Given the description of an element on the screen output the (x, y) to click on. 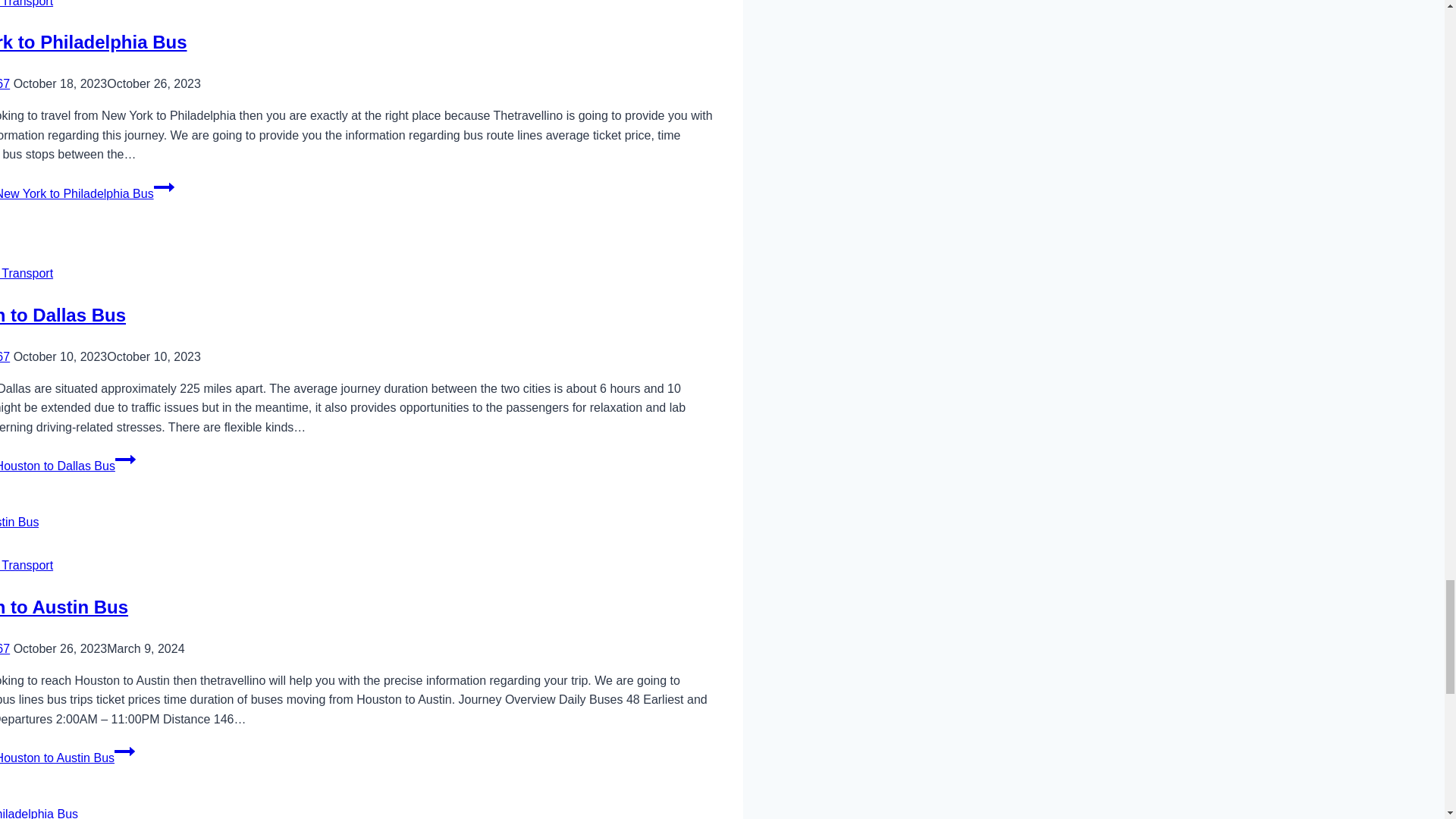
International Transport (26, 564)
Houston to Austin Bus 2 (19, 522)
Continue (164, 187)
Continue (125, 459)
International Transport (26, 3)
New York to Philadelphia Bus (93, 41)
Read More Houston to Dallas BusContinue (67, 465)
Houston to Dallas Bus (62, 314)
Continue (125, 751)
New York to Philadelphia Bus 3 (39, 811)
